Given the description of an element on the screen output the (x, y) to click on. 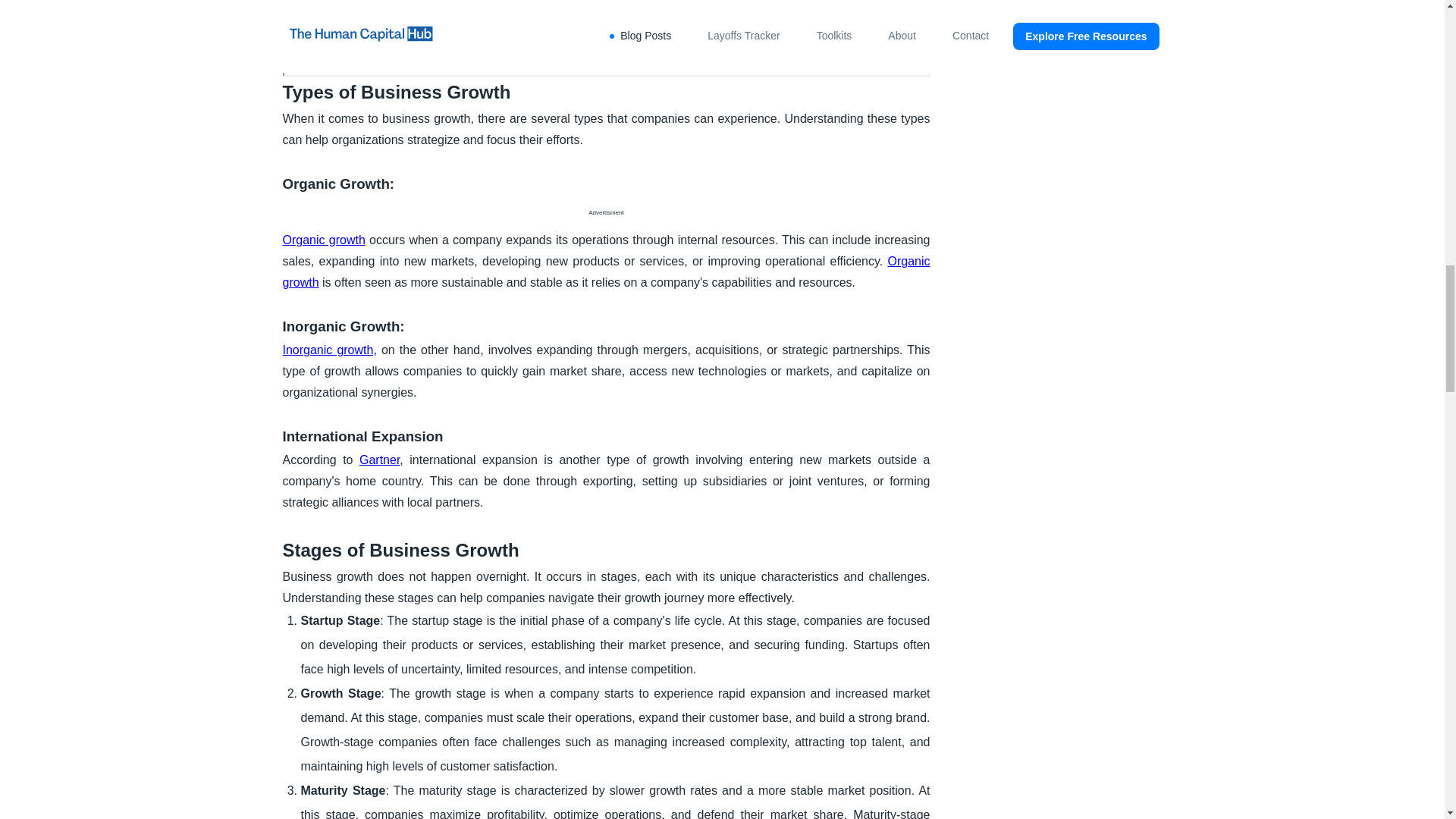
Organic growth (606, 271)
Gartner (378, 459)
Organic growth (323, 239)
Inorganic growth, (328, 349)
